Given the description of an element on the screen output the (x, y) to click on. 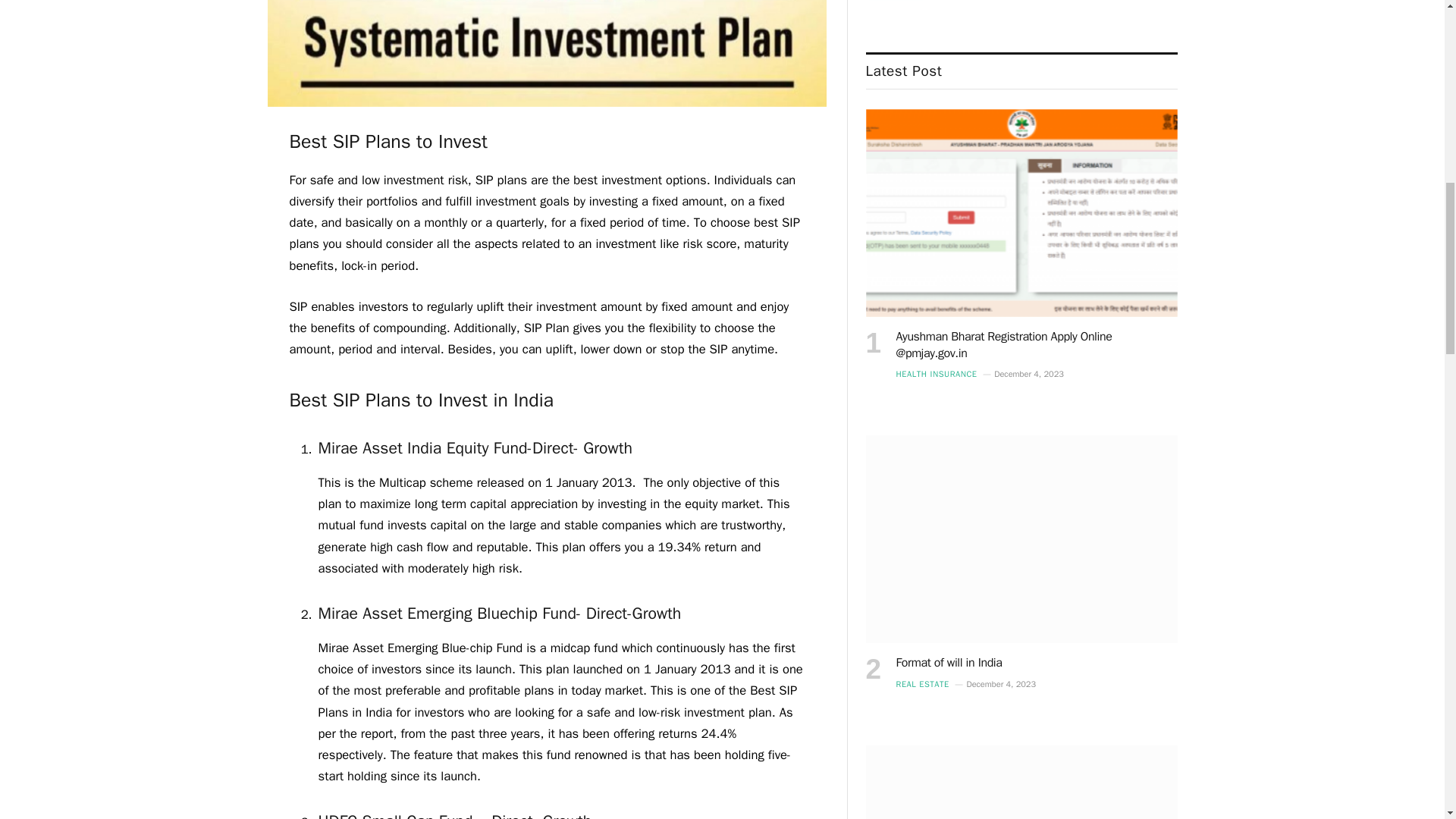
Best SIP Plan to Invest for Future Growth (546, 103)
Best SIP Plan to Invest for Future Growth (546, 53)
